Given the description of an element on the screen output the (x, y) to click on. 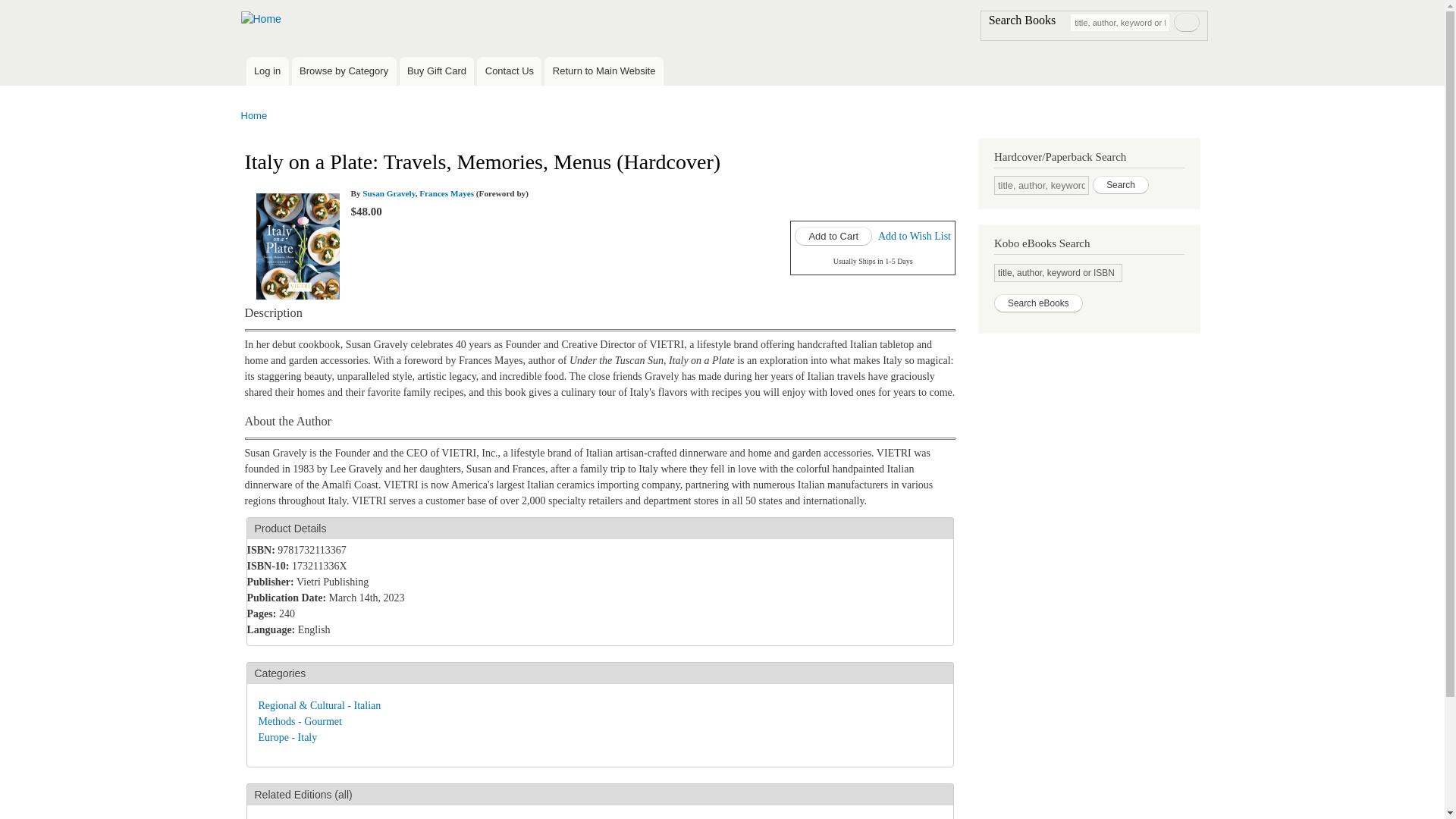
Buy Gift Card (436, 70)
Search (1120, 185)
Add to Wish List (913, 235)
Search (1186, 22)
Enter the terms you wish to search for. (1119, 21)
Add to Cart (833, 235)
Search (1186, 22)
Home (262, 19)
Return to Main Website (603, 70)
Enter the terms you wish to search for. (1041, 185)
title, author, keyword or ISBN (1058, 272)
Enter title, author, keyword or ISBN. (1058, 272)
Add to Cart (833, 235)
Contact Us (509, 70)
Search eBooks (1038, 303)
